Given the description of an element on the screen output the (x, y) to click on. 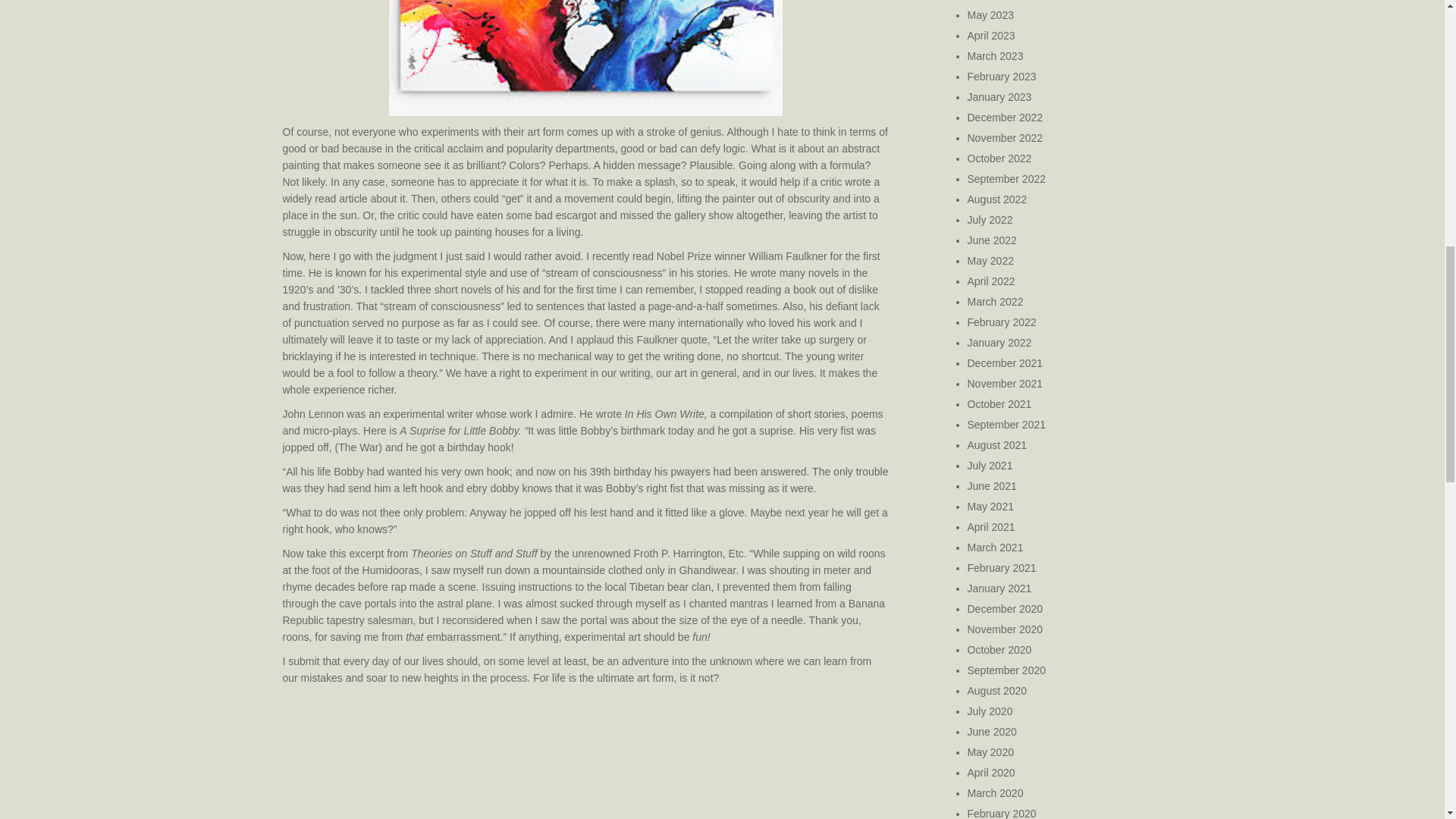
June 2023 (992, 0)
March 2023 (995, 55)
May 2023 (990, 15)
April 2023 (991, 35)
